Given the description of an element on the screen output the (x, y) to click on. 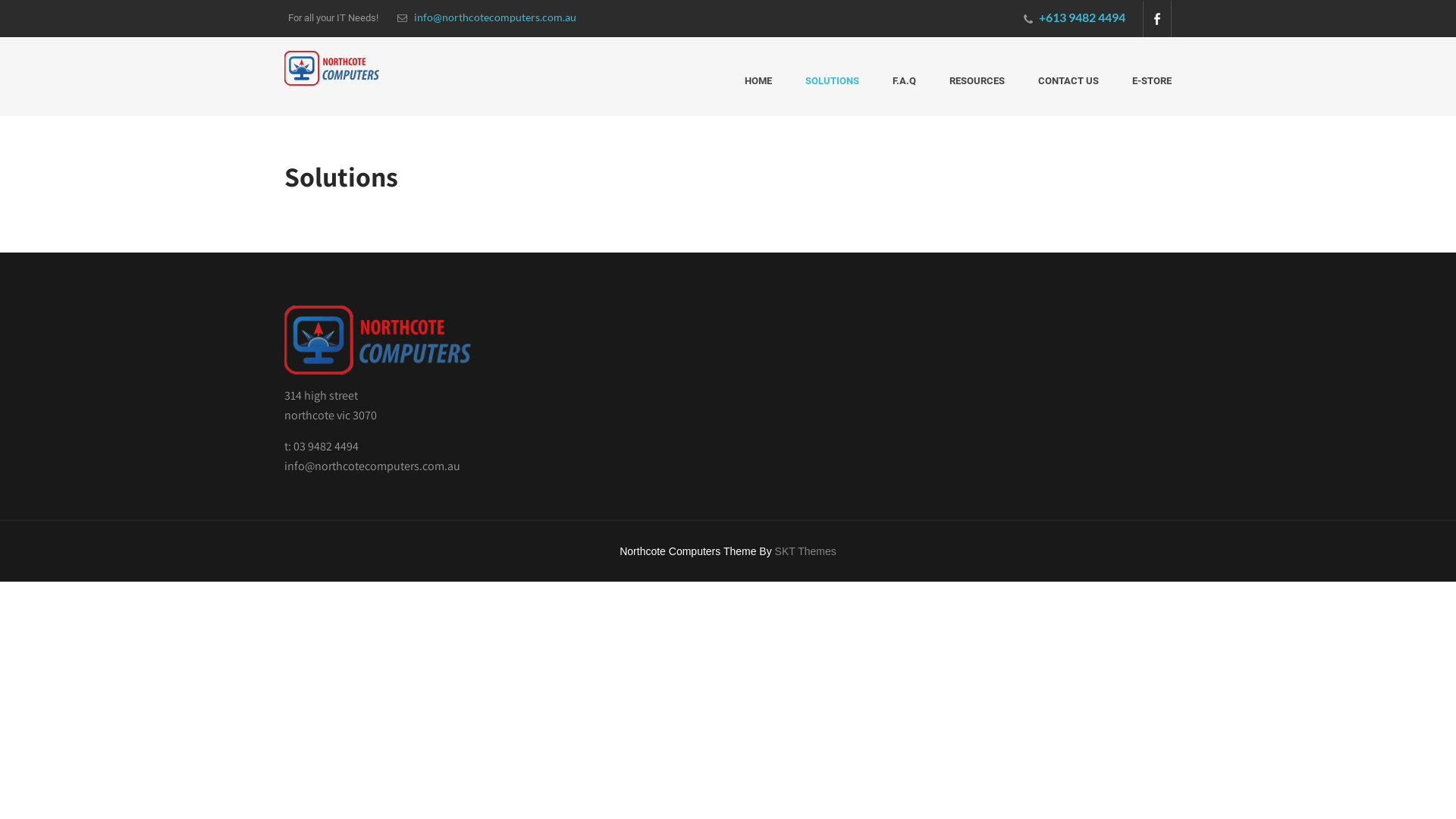
F.A.Q Element type: text (903, 89)
E-STORE Element type: text (1143, 89)
info@northcotecomputers.com.au Element type: text (486, 16)
CONTACT US Element type: text (1068, 89)
facebook Element type: hover (1156, 18)
SOLUTIONS Element type: text (831, 89)
RESOURCES Element type: text (976, 89)
SKT Themes Element type: text (805, 551)
HOME Element type: text (758, 89)
